Given the description of an element on the screen output the (x, y) to click on. 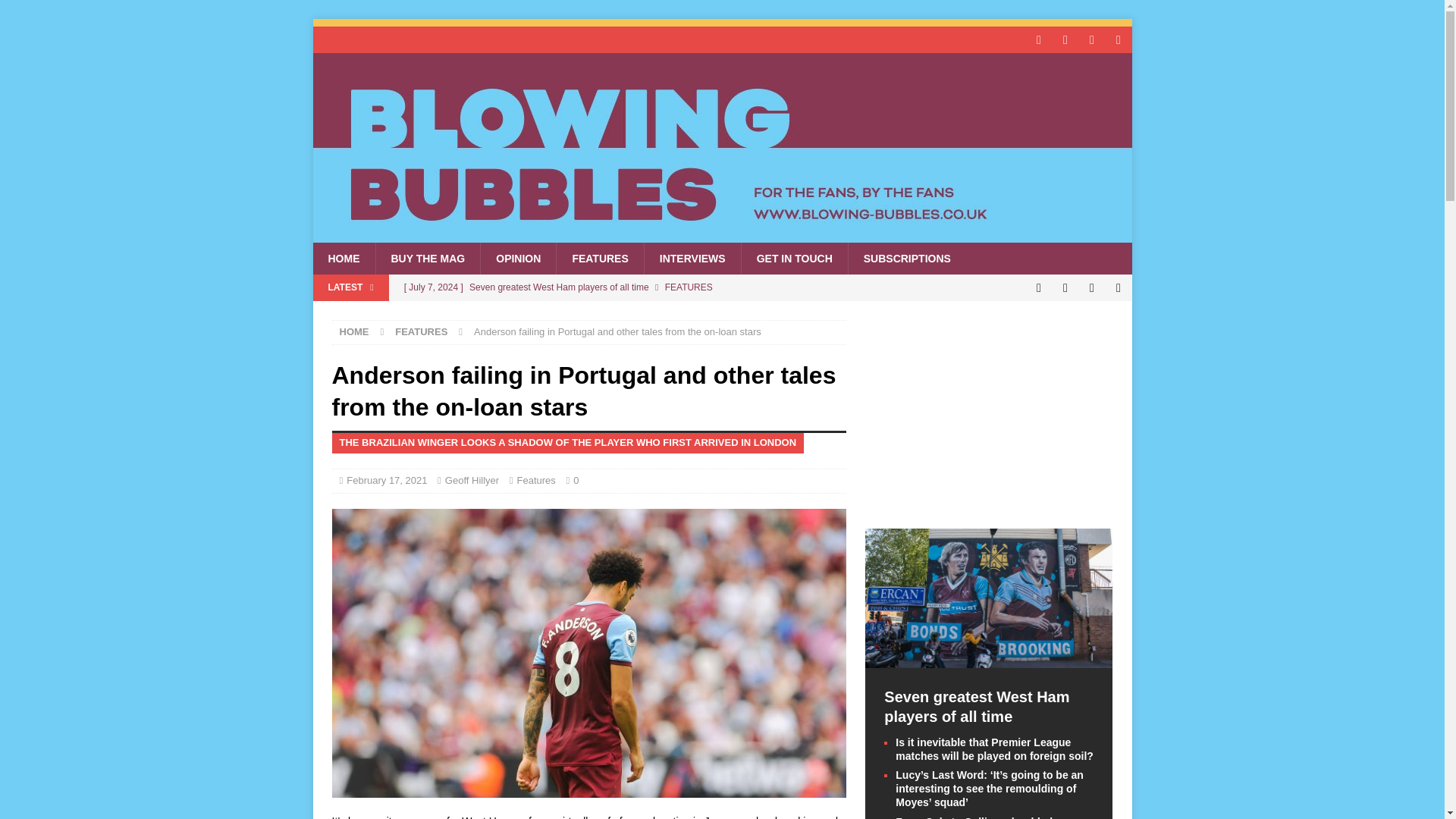
OPINION (518, 258)
FEATURES (599, 258)
HOME (354, 331)
Blowing Bubbles (722, 234)
GET IN TOUCH (794, 258)
Seven greatest West Ham players of all time (620, 287)
HOME (343, 258)
INTERVIEWS (692, 258)
Geoff Hillyer (472, 480)
FEATURES (420, 331)
BUY THE MAG (427, 258)
SUBSCRIPTIONS (906, 258)
February 17, 2021 (386, 480)
Features (536, 480)
